Given the description of an element on the screen output the (x, y) to click on. 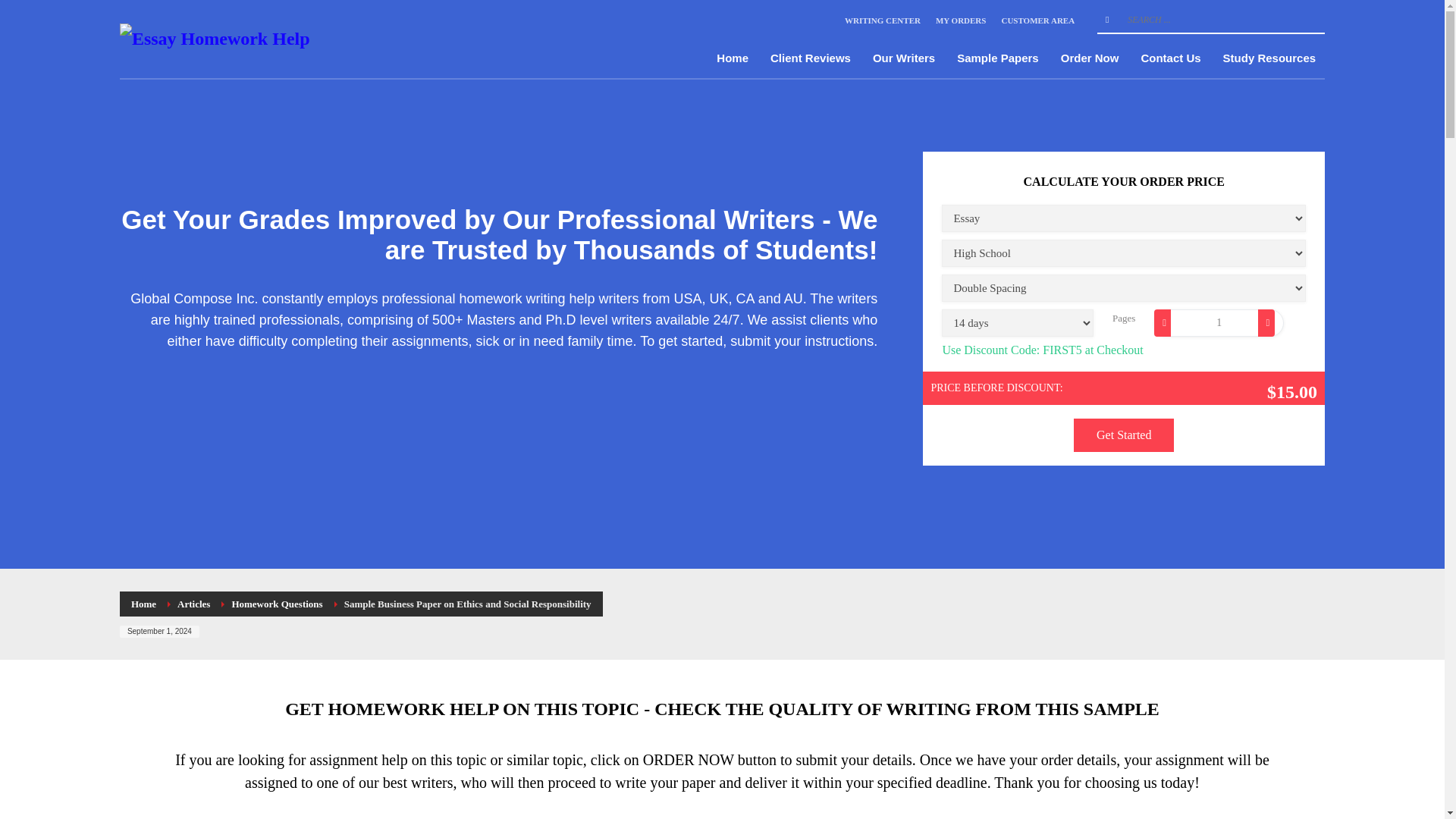
Study Resources (1269, 57)
go (1107, 19)
Our Writers (903, 57)
Get Started (1123, 435)
Client Reviews (810, 57)
Articles (193, 603)
Homework Help (214, 38)
Home (732, 57)
Contact Us (1170, 57)
Home (143, 603)
